Given the description of an element on the screen output the (x, y) to click on. 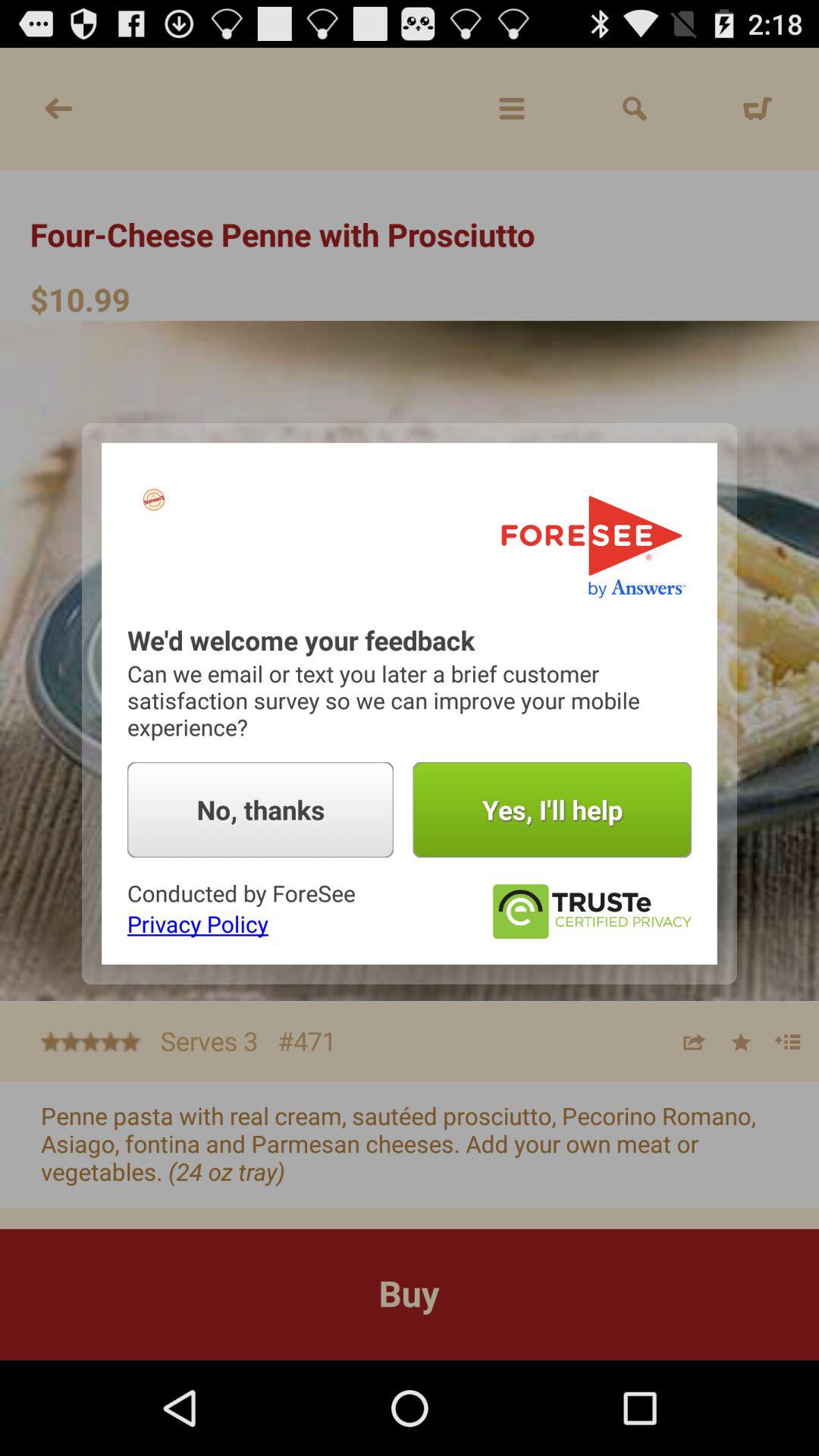
launch the item next to the conducted by foresee item (591, 911)
